Given the description of an element on the screen output the (x, y) to click on. 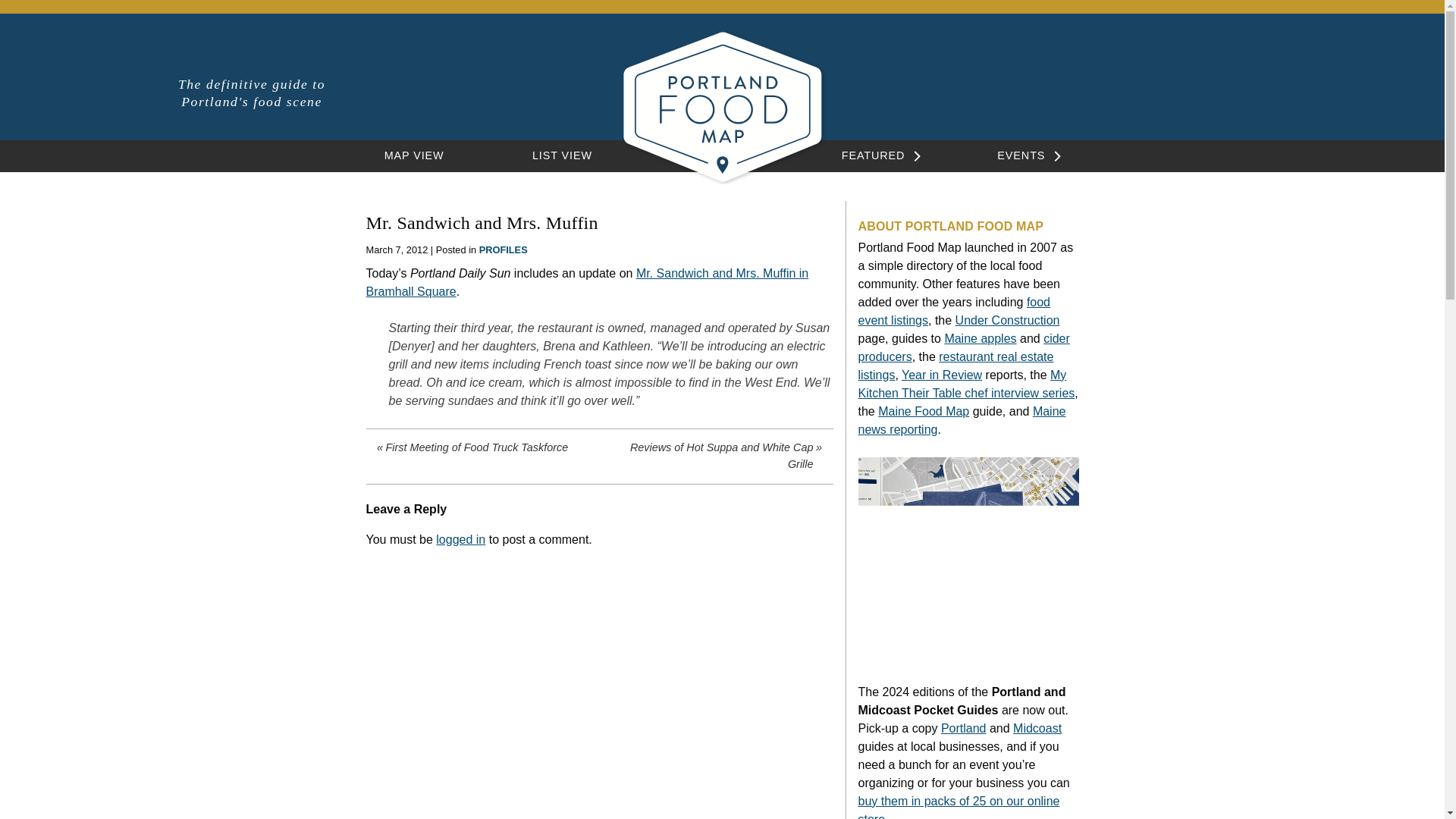
FEATURED (873, 155)
Instagram icon (1196, 88)
PROFILES (503, 249)
MAP VIEW (414, 155)
Midcoast (1037, 727)
RSS icon (1251, 88)
Portland Food Map logo (721, 106)
Year in Review (941, 374)
My Kitchen Their Table chef interview series (967, 383)
Mr. Sandwich and Mrs. Muffin in Bramhall Square (586, 282)
EVENTS (1021, 155)
expand child menu (913, 156)
LIST VIEW (562, 155)
Reviews of Hot Suppa and White Cap Grille (713, 455)
food event listings (955, 310)
